Given the description of an element on the screen output the (x, y) to click on. 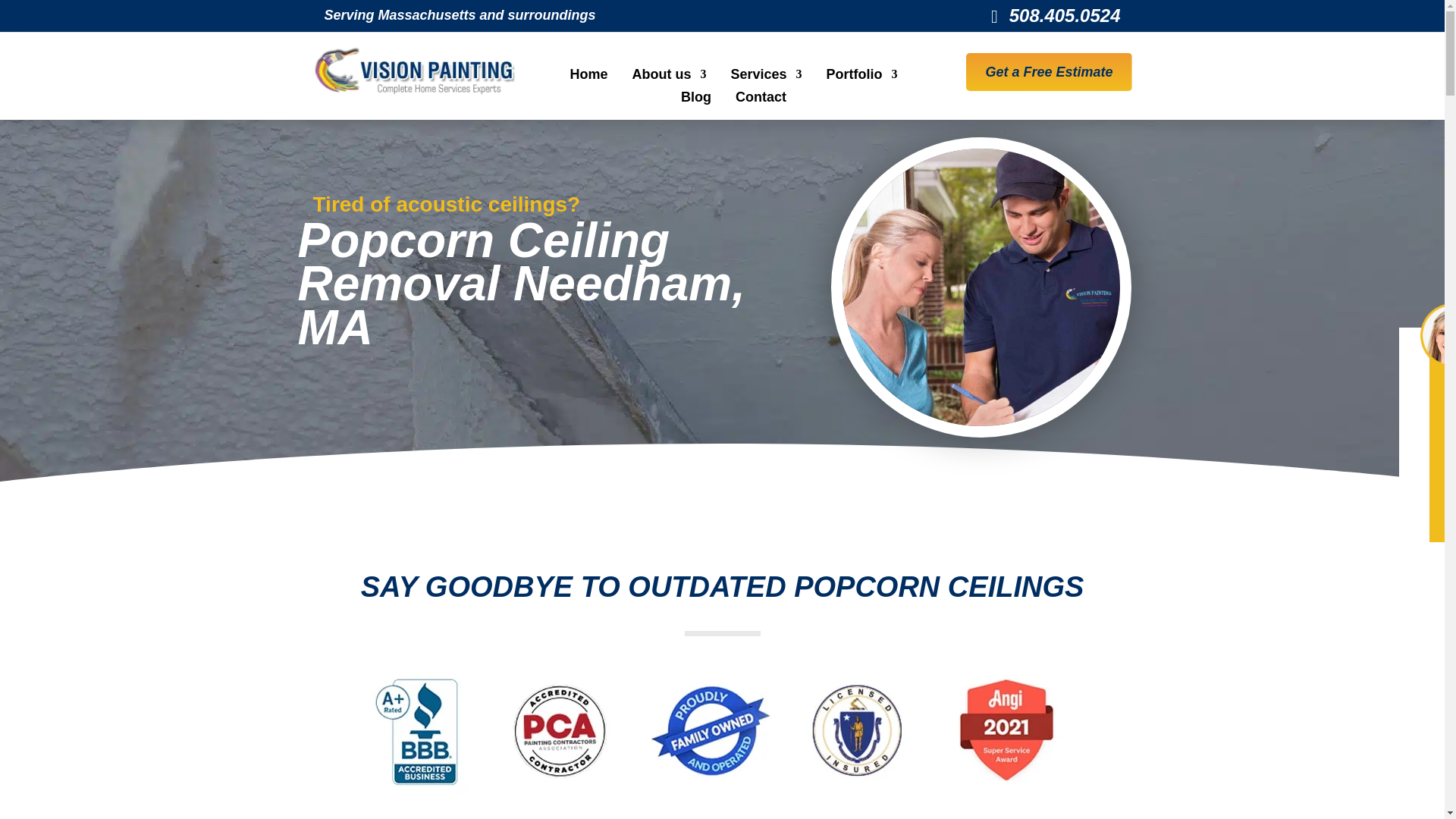
Cement siding (981, 286)
Blog (696, 99)
Home (588, 76)
Portfolio (862, 76)
Contact (760, 99)
vision61 (414, 70)
Services (766, 76)
removing painted popcorn ceiling (722, 728)
Get a Free Estimate (1048, 72)
About us (668, 76)
